Given the description of an element on the screen output the (x, y) to click on. 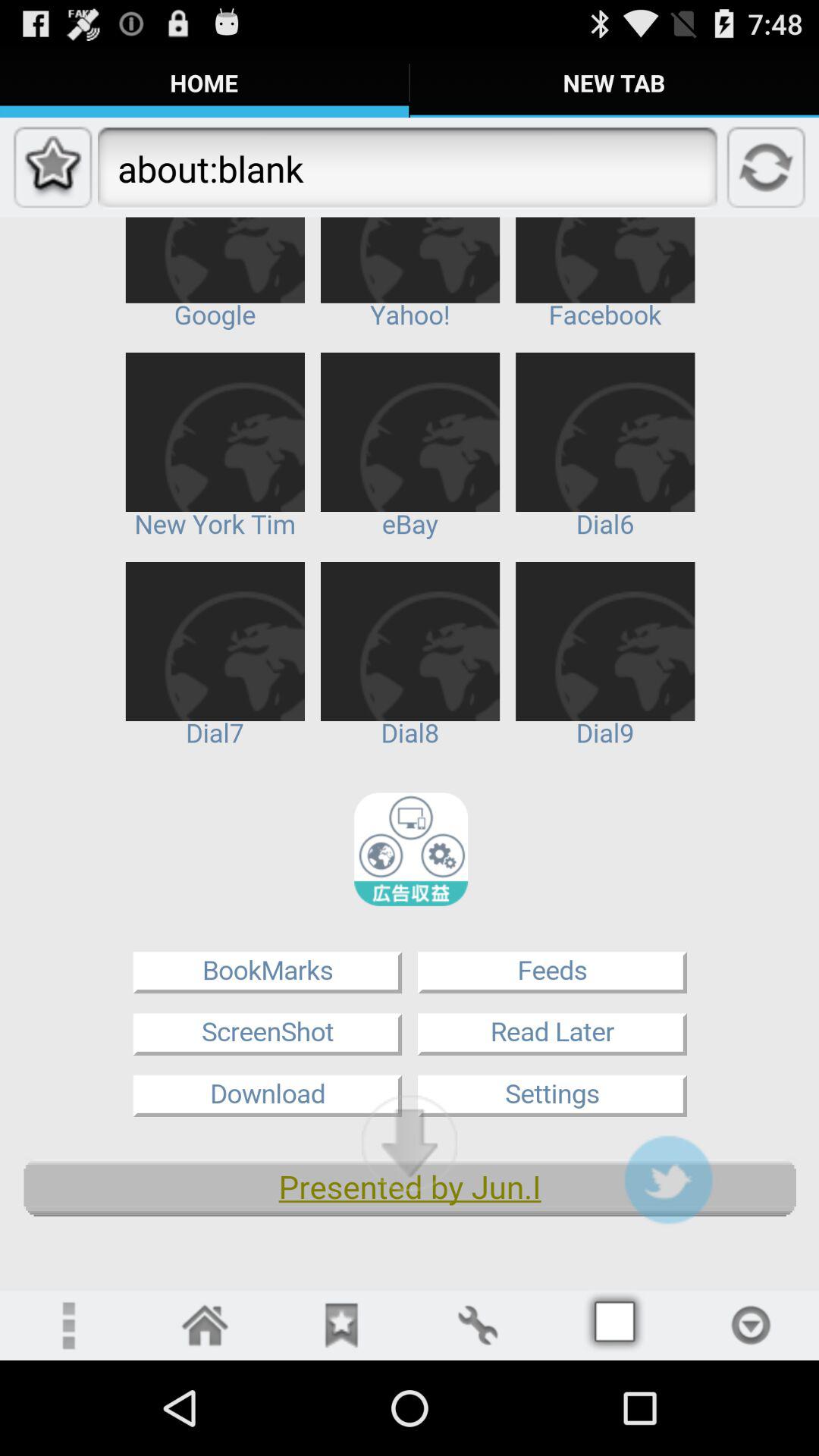
go to setting (477, 1325)
